Given the description of an element on the screen output the (x, y) to click on. 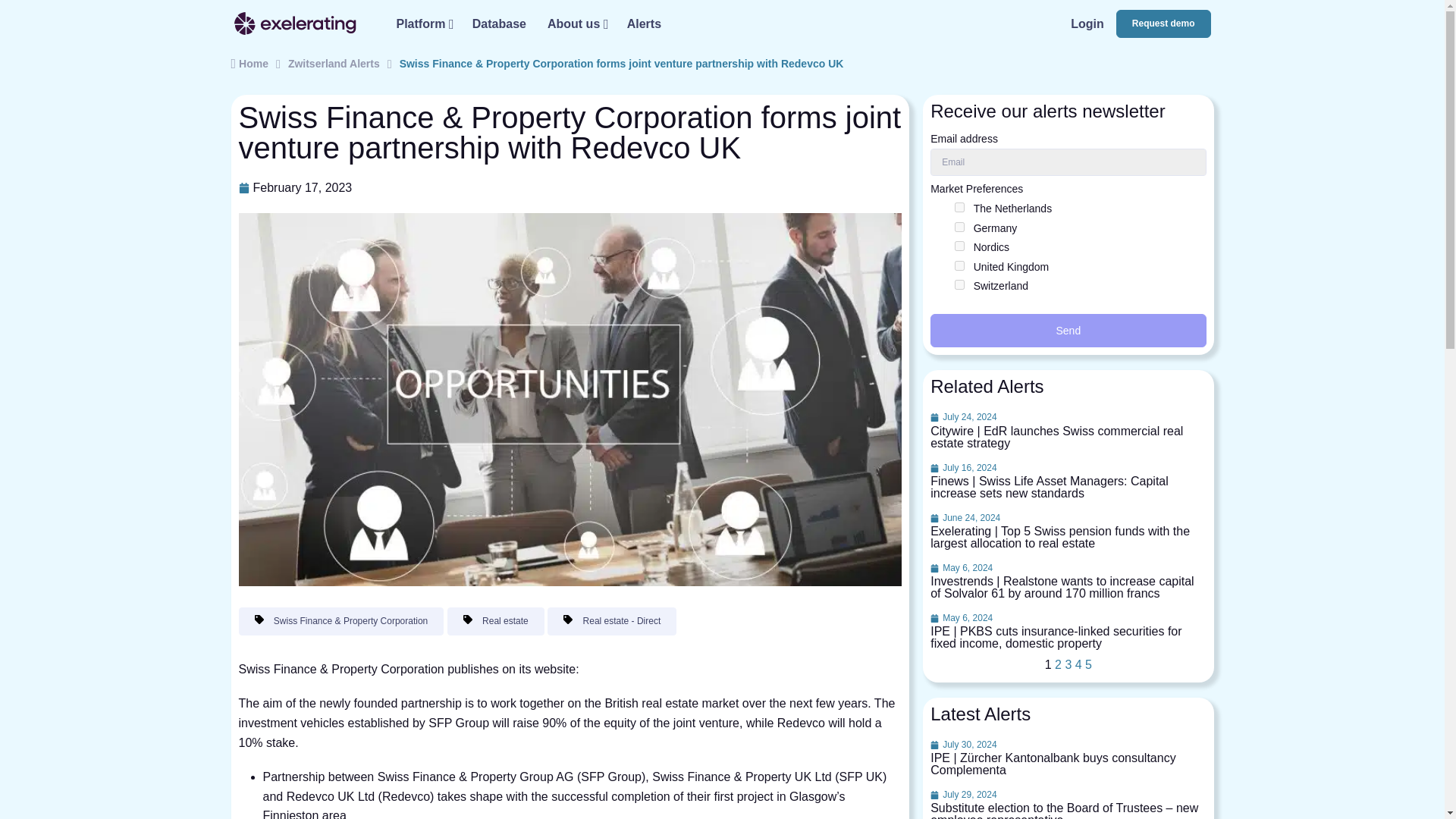
1 (959, 207)
Alerts (1087, 23)
4 (959, 245)
Alerts (643, 23)
Request demo (1163, 22)
Send (1067, 330)
  Real estate - Direct (612, 620)
About us (576, 23)
Alerts (643, 23)
Platform (423, 23)
Send (1067, 330)
  Real estate (495, 620)
About us (576, 23)
Login (1087, 23)
16 (959, 284)
